Given the description of an element on the screen output the (x, y) to click on. 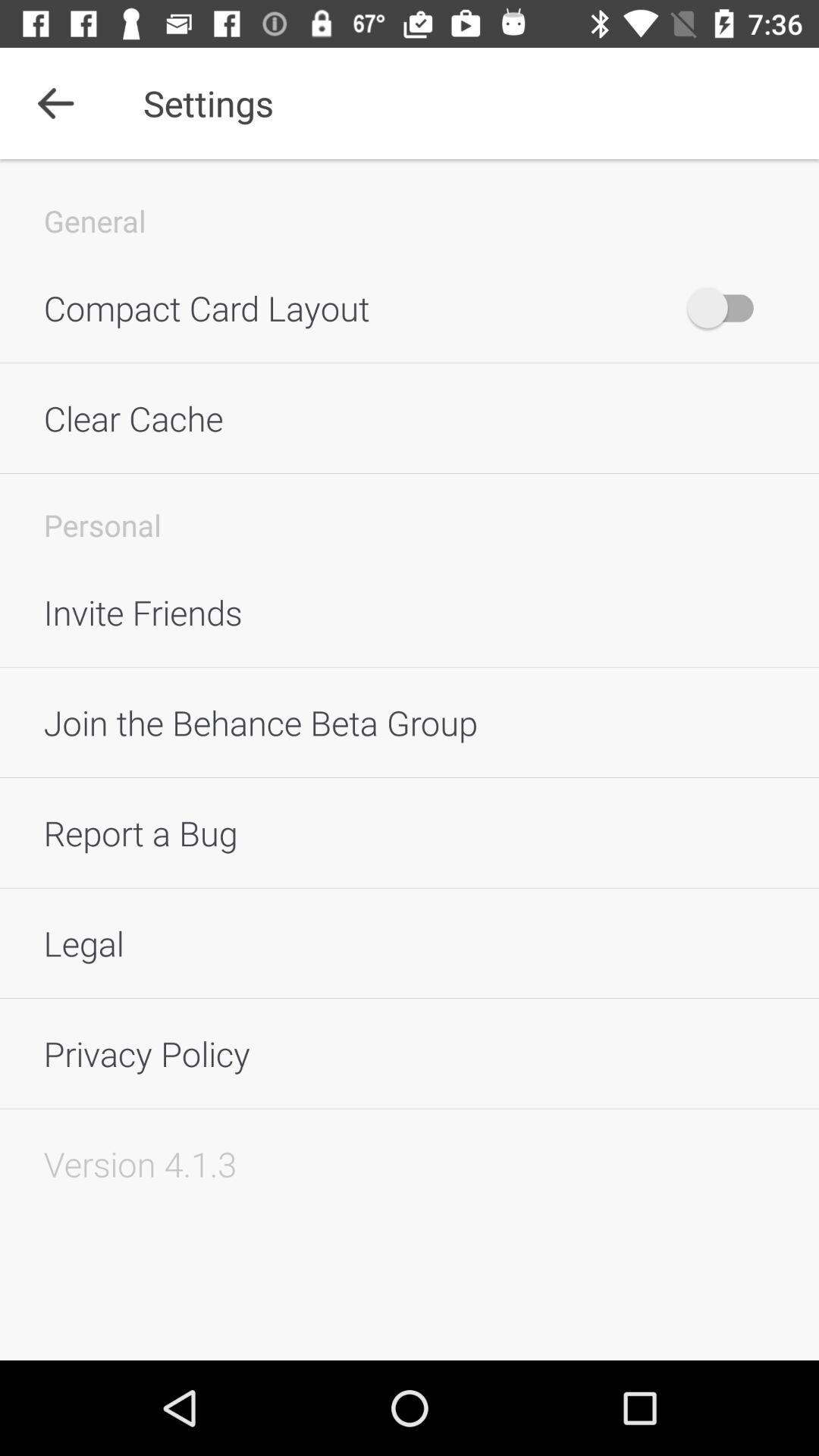
toggle compact card layout (727, 307)
